Given the description of an element on the screen output the (x, y) to click on. 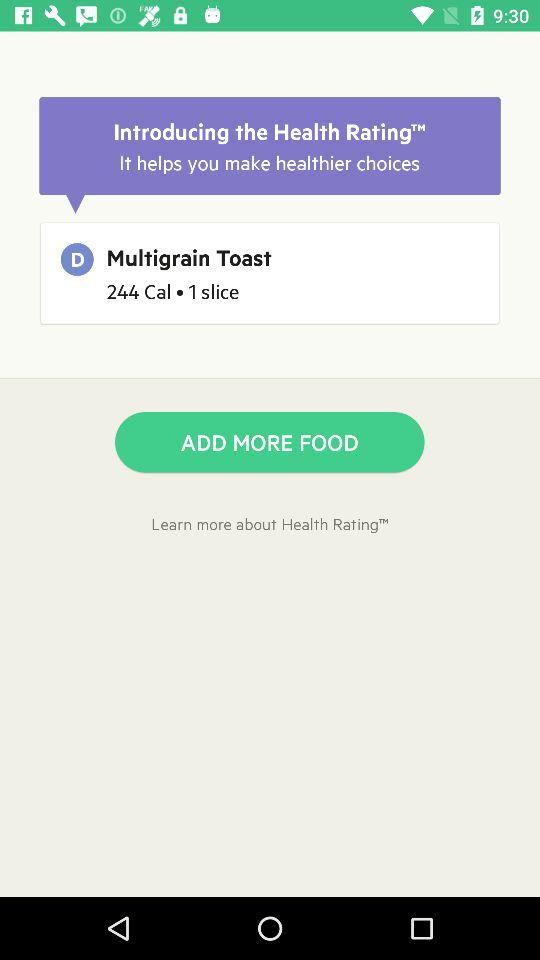
select the add more food item (269, 442)
